Given the description of an element on the screen output the (x, y) to click on. 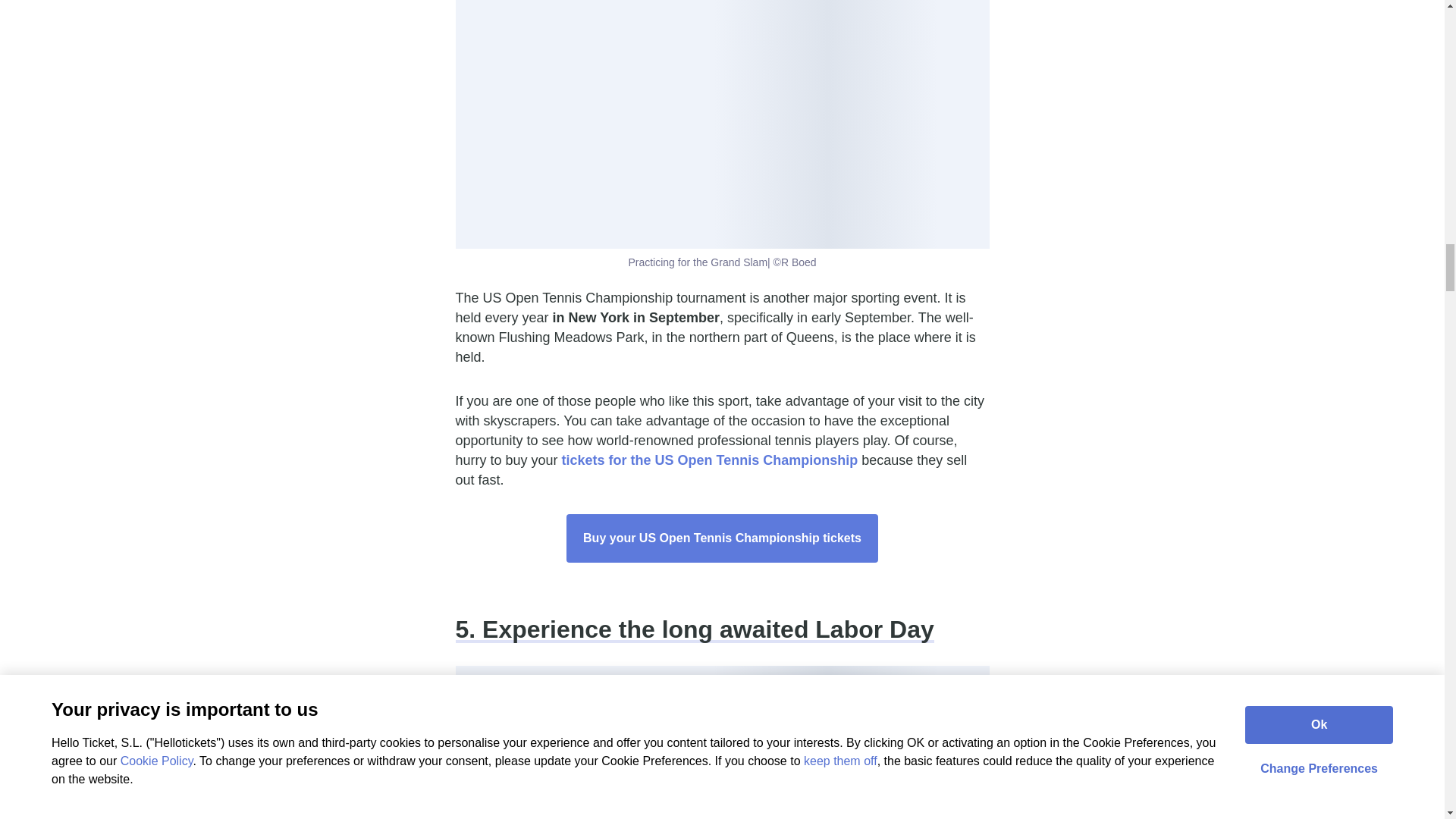
Buy your US Open Tennis Championship tickets (721, 538)
tickets for the US Open Tennis Championship (710, 459)
